Given the description of an element on the screen output the (x, y) to click on. 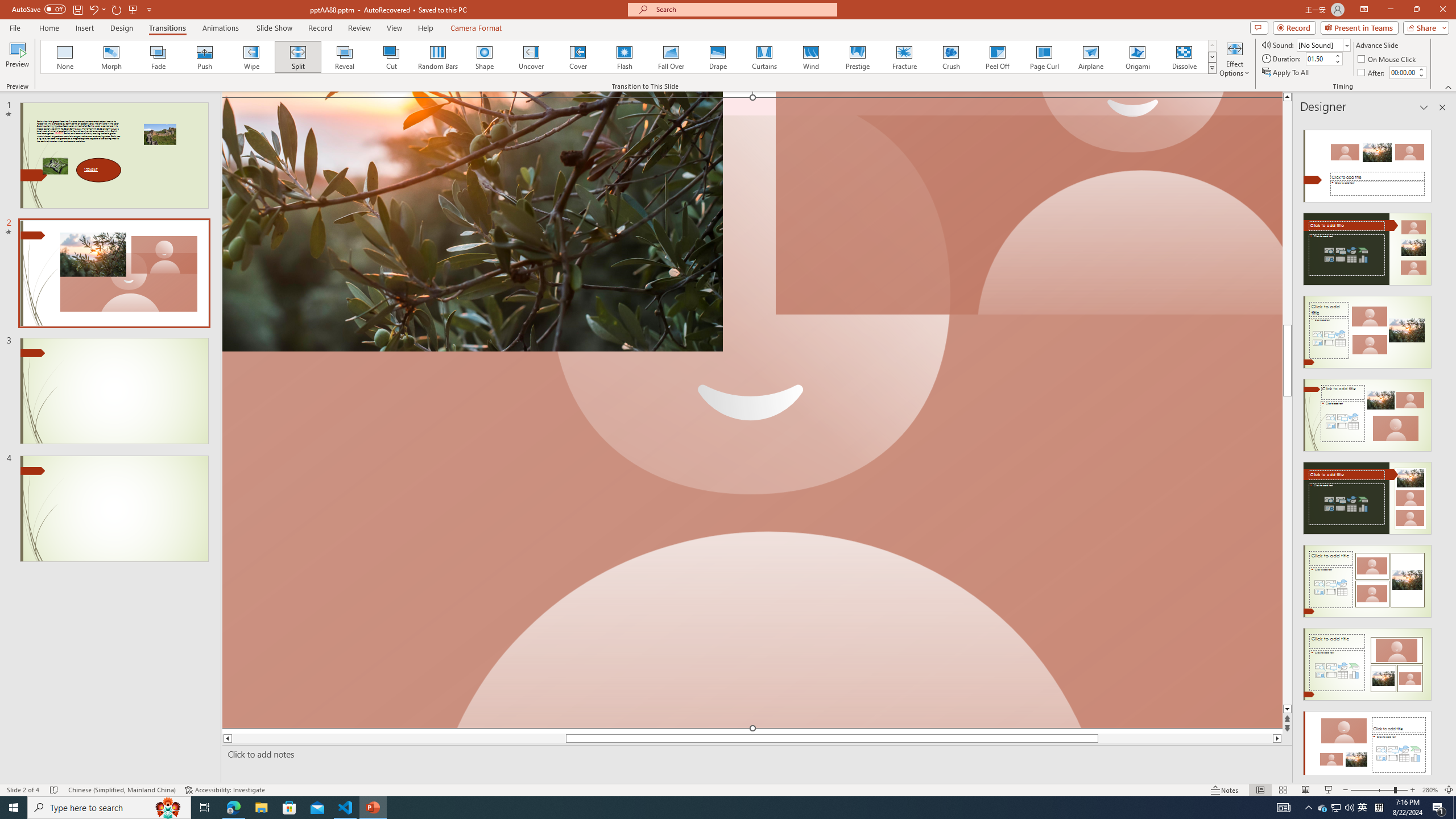
Close up of an olive branch on a sunset (472, 221)
Page Curl (1043, 56)
After (1372, 72)
Page down (1287, 570)
Prestige (857, 56)
Wipe (251, 56)
